Given the description of an element on the screen output the (x, y) to click on. 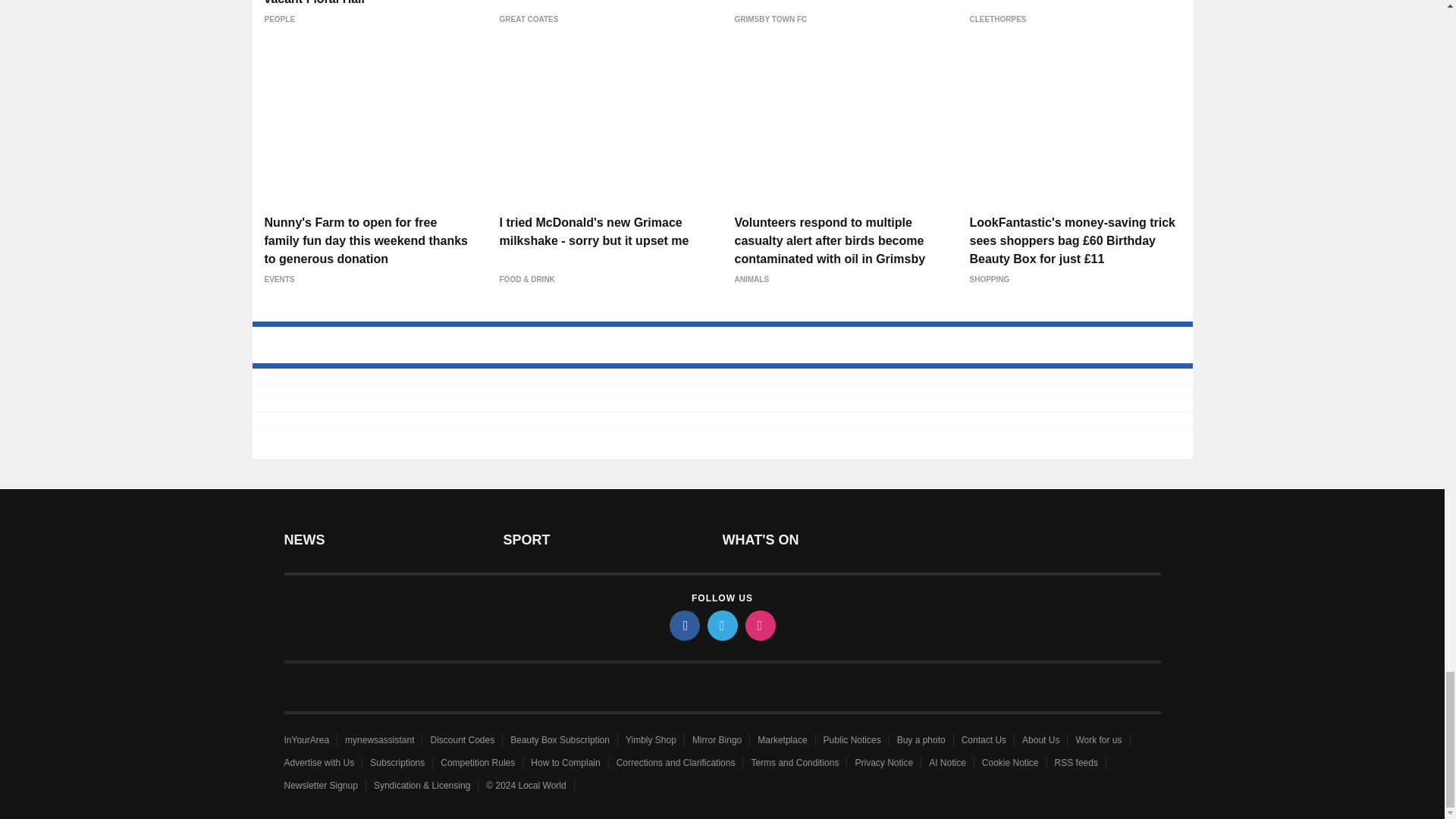
facebook (683, 625)
twitter (721, 625)
instagram (759, 625)
